Given the description of an element on the screen output the (x, y) to click on. 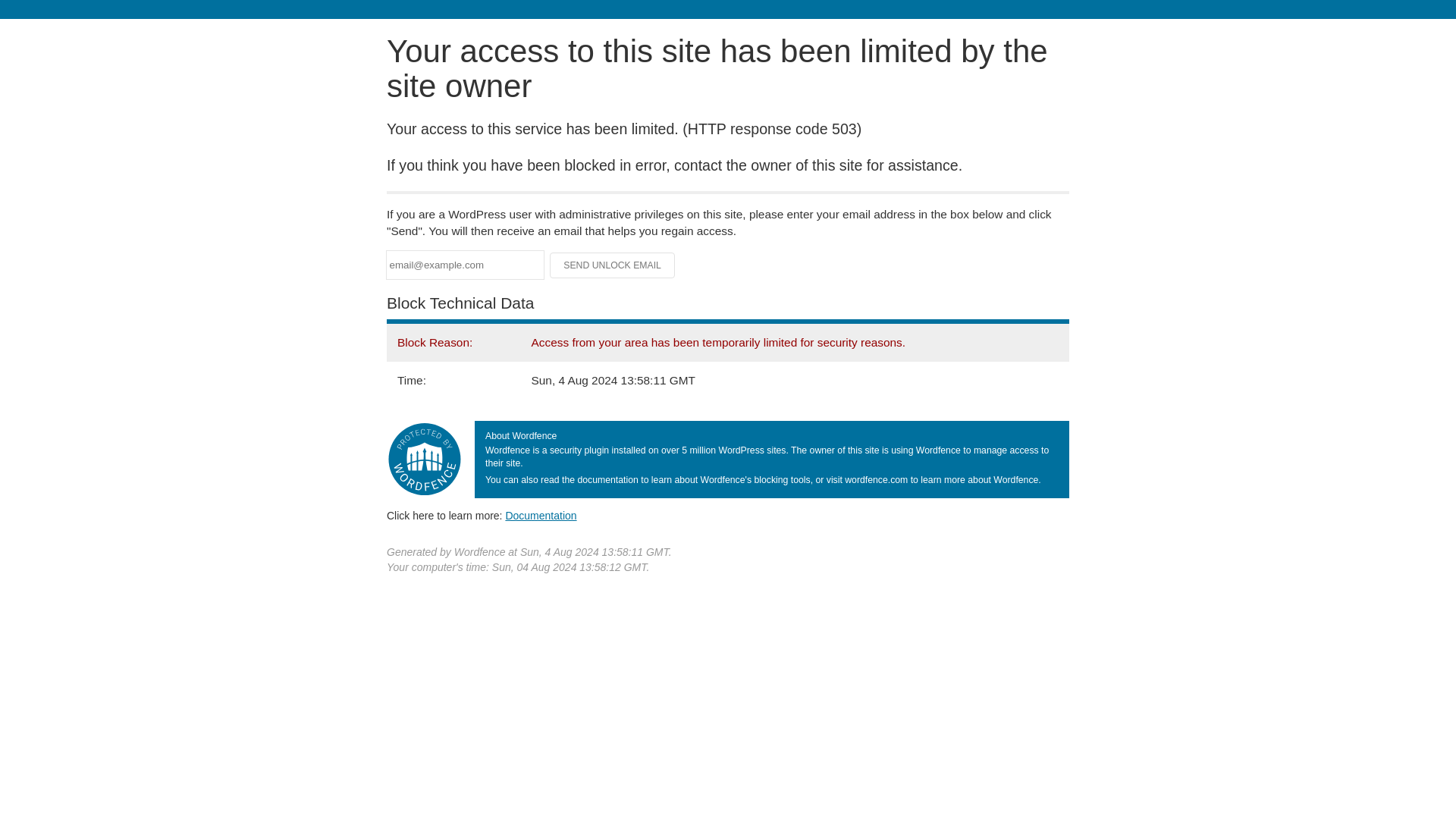
Documentation (540, 515)
Send Unlock Email (612, 265)
Send Unlock Email (612, 265)
